Given the description of an element on the screen output the (x, y) to click on. 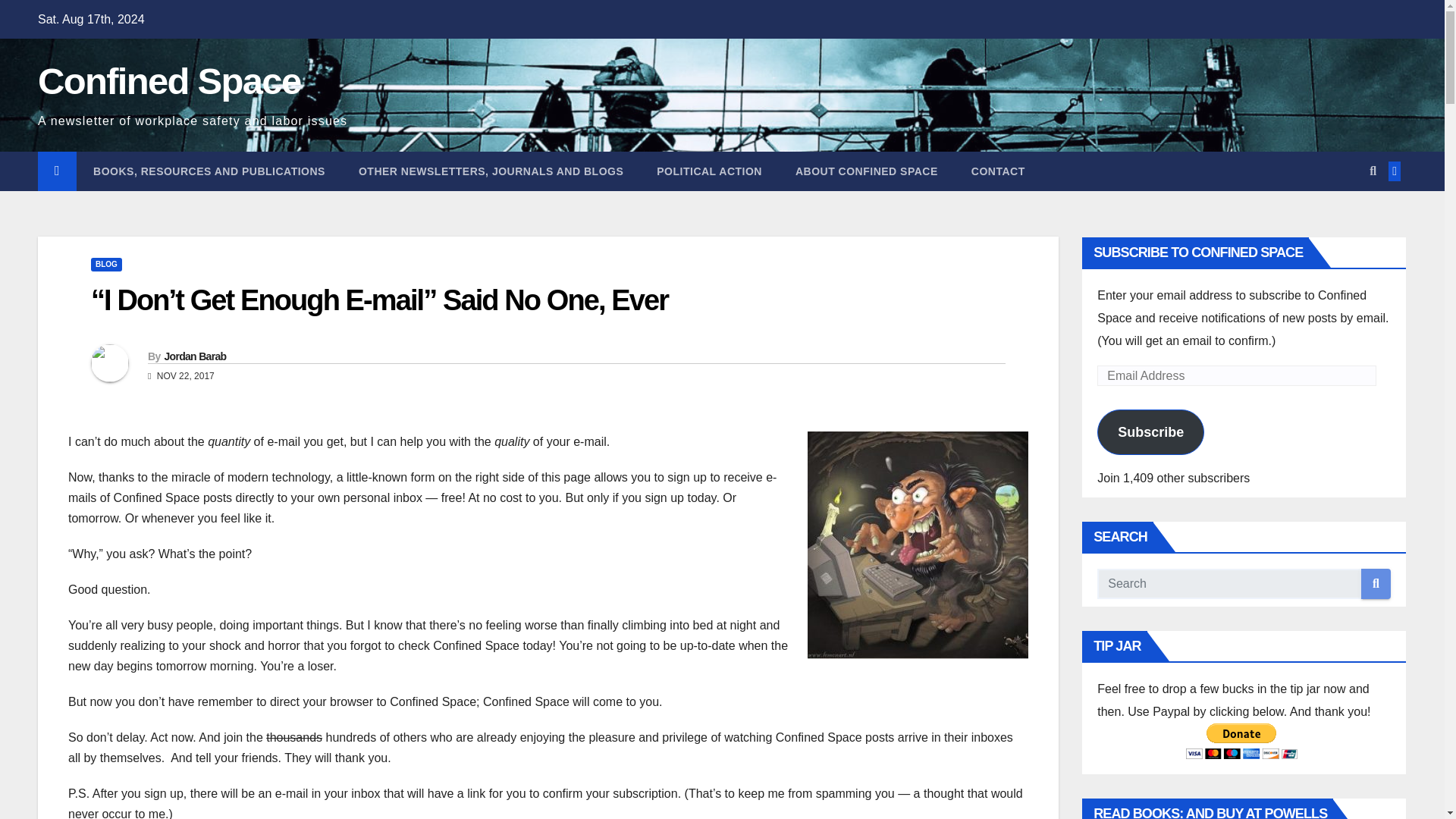
Books, Resources and Publications (209, 170)
Contact (998, 170)
Political Action (709, 170)
Other Newsletters, Journals  and Blogs (491, 170)
Confined Space (168, 80)
BLOG (106, 264)
ABOUT CONFINED SPACE (866, 170)
OTHER NEWSLETTERS, JOURNALS AND BLOGS (491, 170)
CONTACT (998, 170)
Jordan Barab (194, 356)
